Given the description of an element on the screen output the (x, y) to click on. 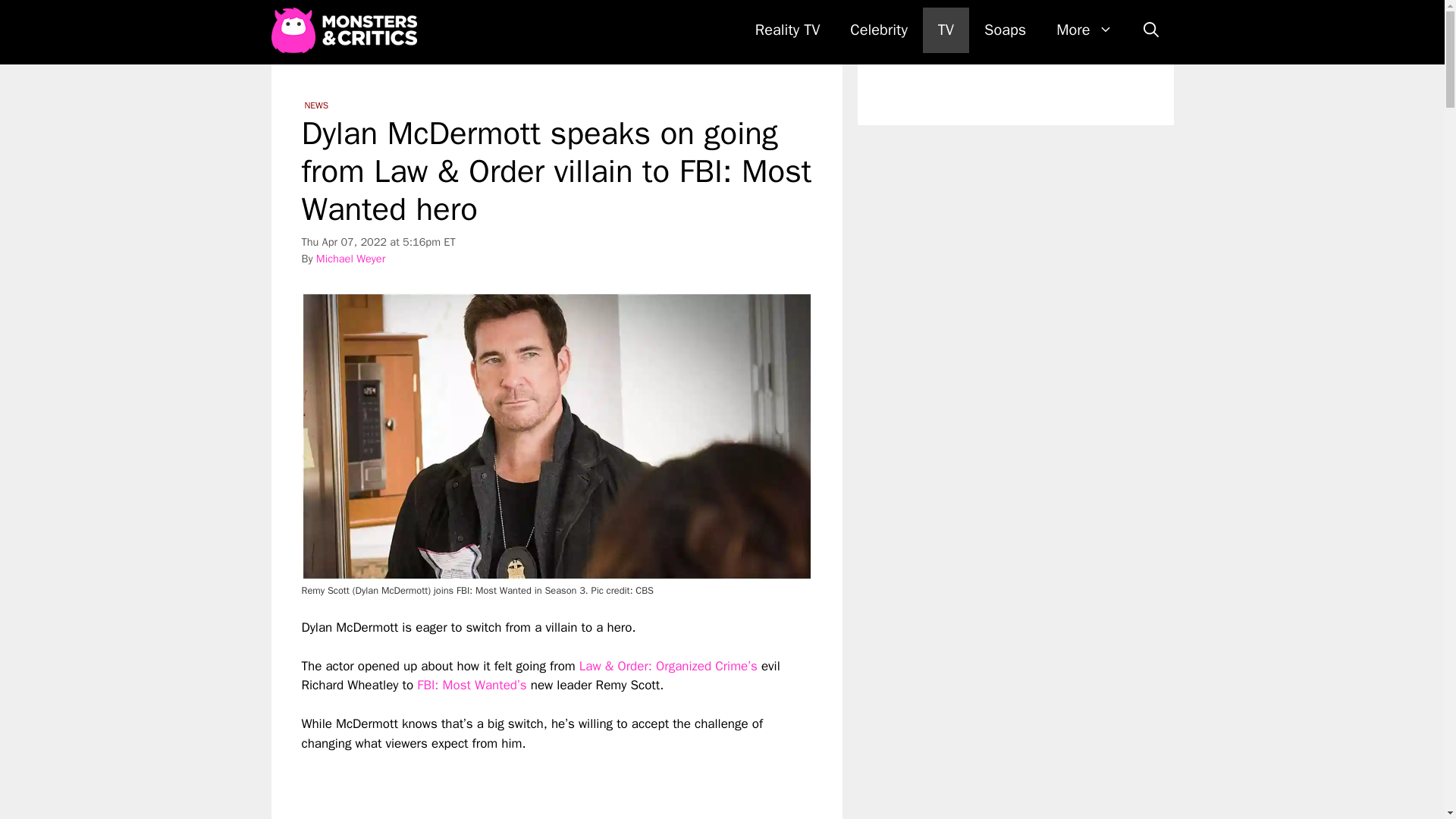
Monsters and Critics (347, 30)
Soaps (1005, 30)
Michael Weyer (350, 258)
Celebrity (877, 30)
TV (946, 30)
YouTube video player (513, 785)
Monsters and Critics (343, 30)
View all posts by Michael Weyer (350, 258)
More (1083, 30)
Reality TV (787, 30)
